Given the description of an element on the screen output the (x, y) to click on. 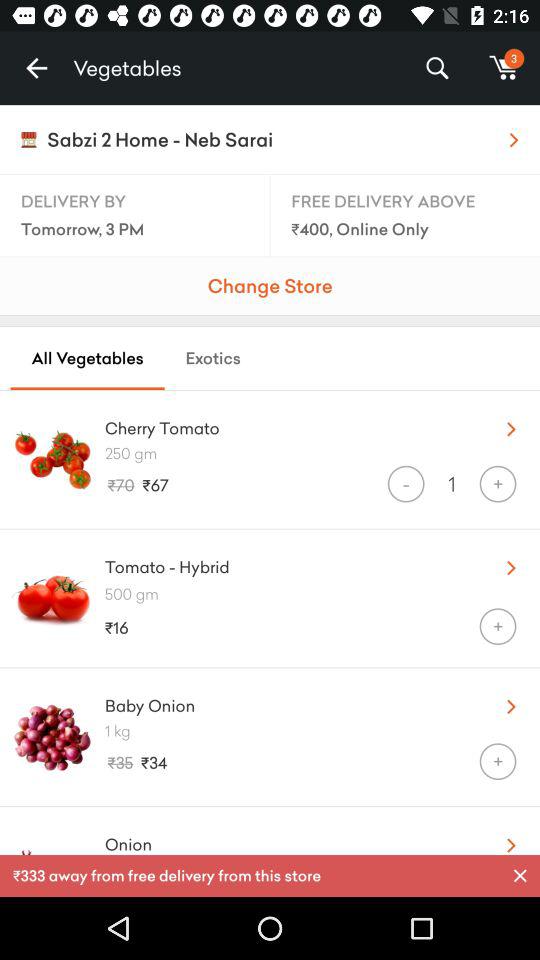
open the icon above the 1 kg icon (288, 701)
